Given the description of an element on the screen output the (x, y) to click on. 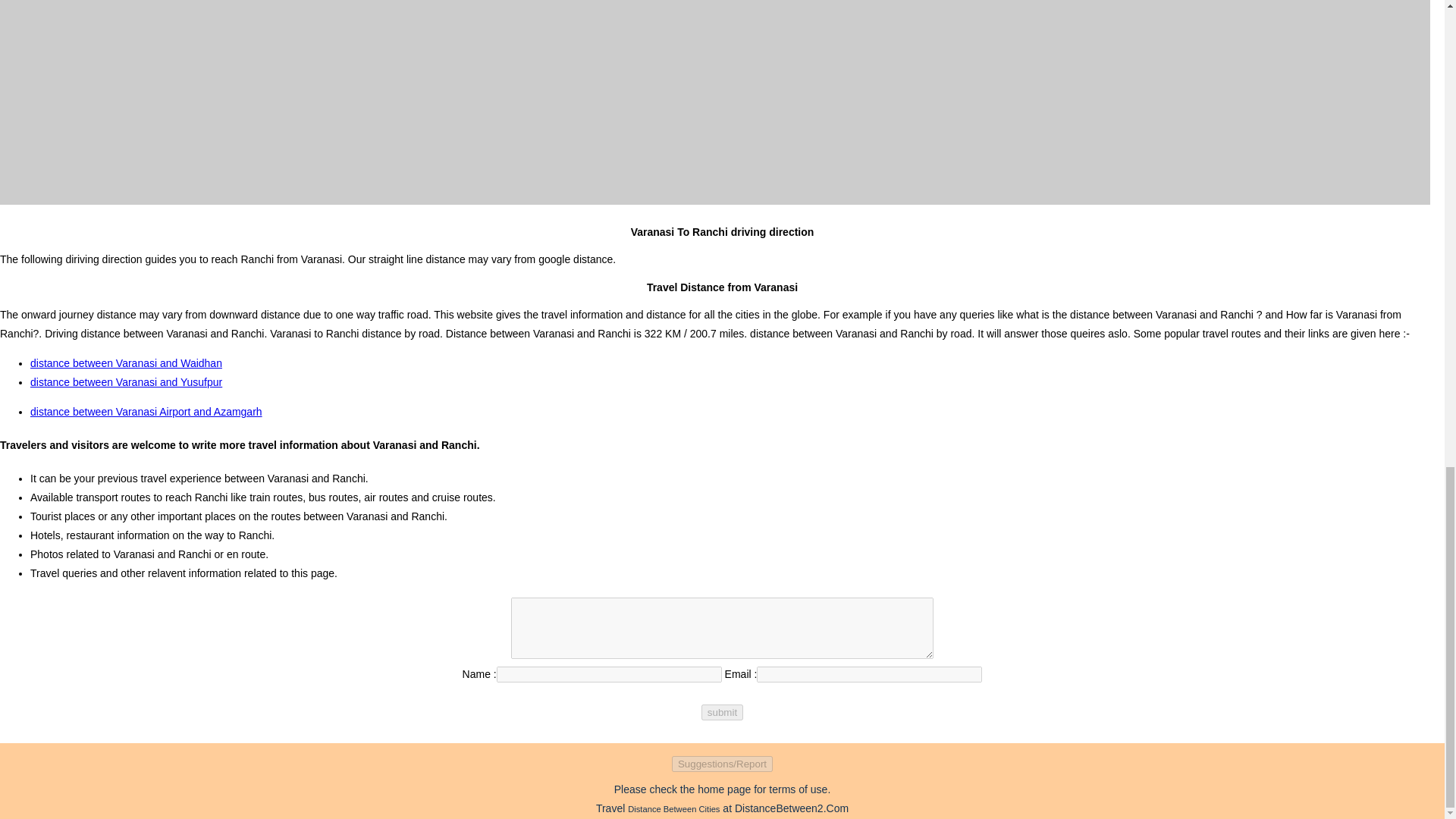
Distance Between Cities (673, 809)
distance between Varanasi and Waidhan (126, 363)
submit (721, 712)
distance between Varanasi and Yusufpur (126, 381)
distance between Varanasi Airport and Azamgarh (146, 411)
submit (721, 712)
